Given the description of an element on the screen output the (x, y) to click on. 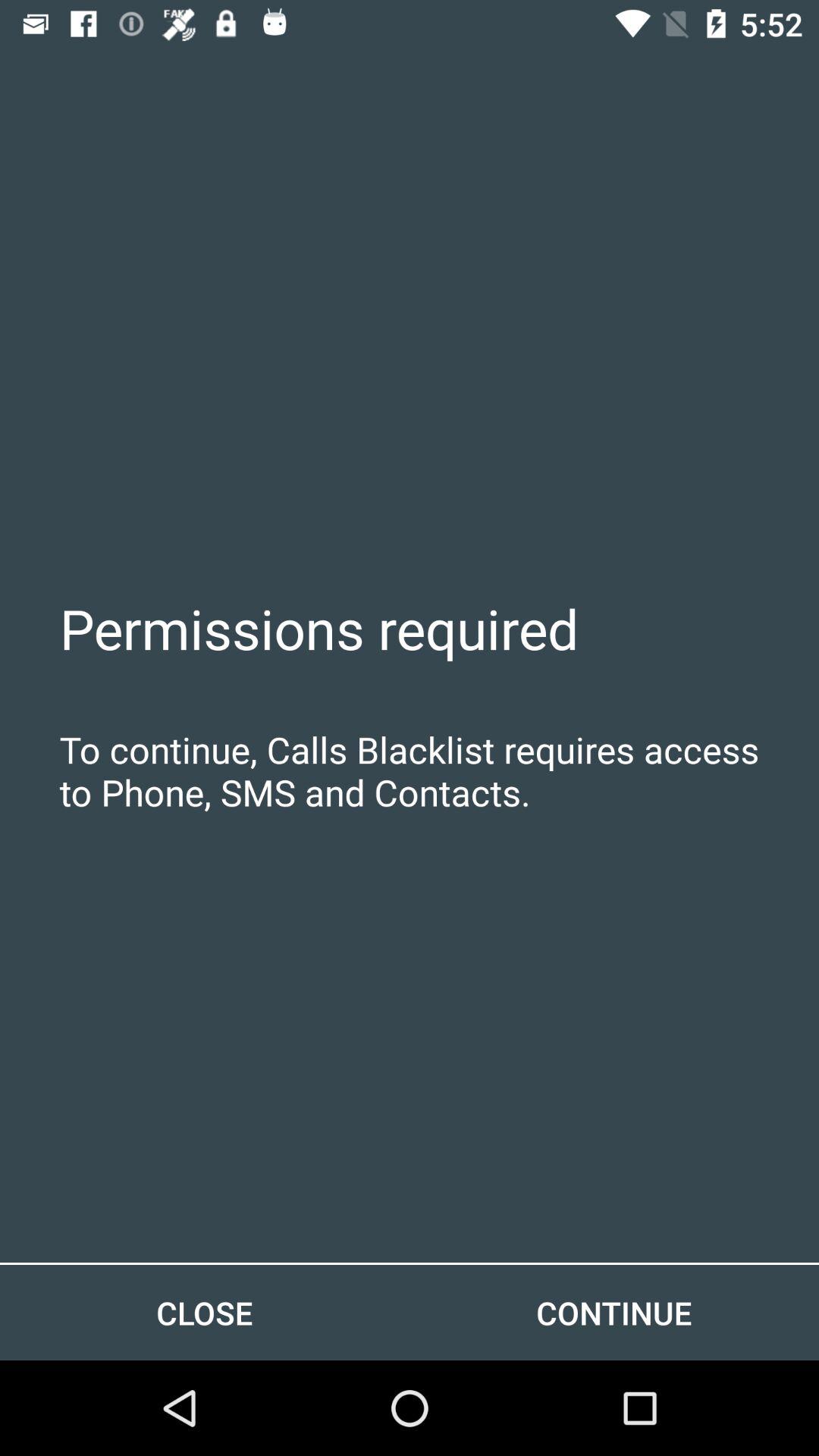
flip to the close icon (204, 1312)
